Given the description of an element on the screen output the (x, y) to click on. 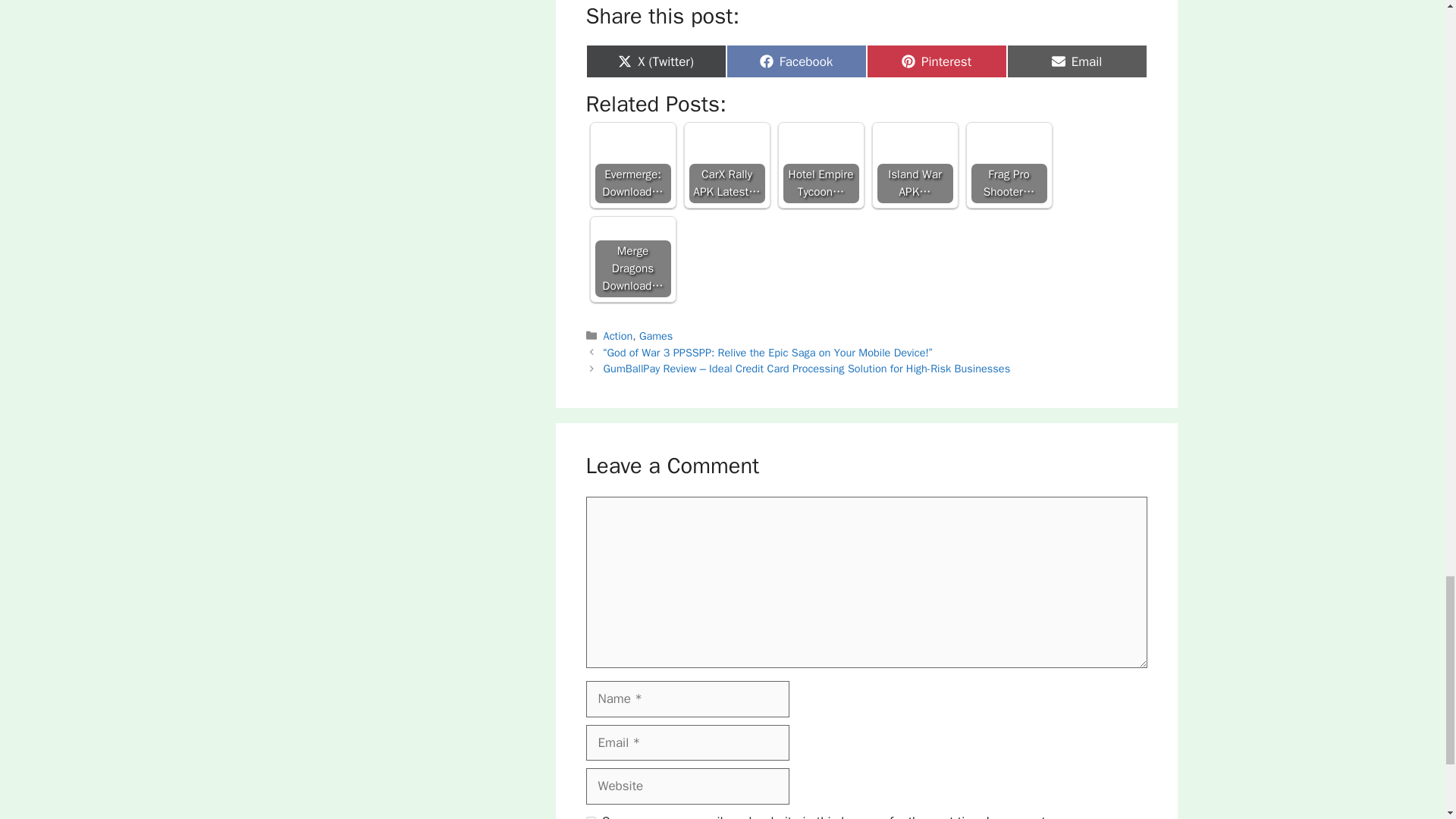
Island War APK download for Android 4.6.3 Army Camp Levels (1077, 61)
yes (914, 165)
Hotel Empire Tycoon idle game manager simulator For Android (936, 61)
Evermerge: Download Evermerge Apk For Android 2023 (821, 165)
Merge Dragons Download Merge Dragons Android Apk 2023 (796, 61)
